Given the description of an element on the screen output the (x, y) to click on. 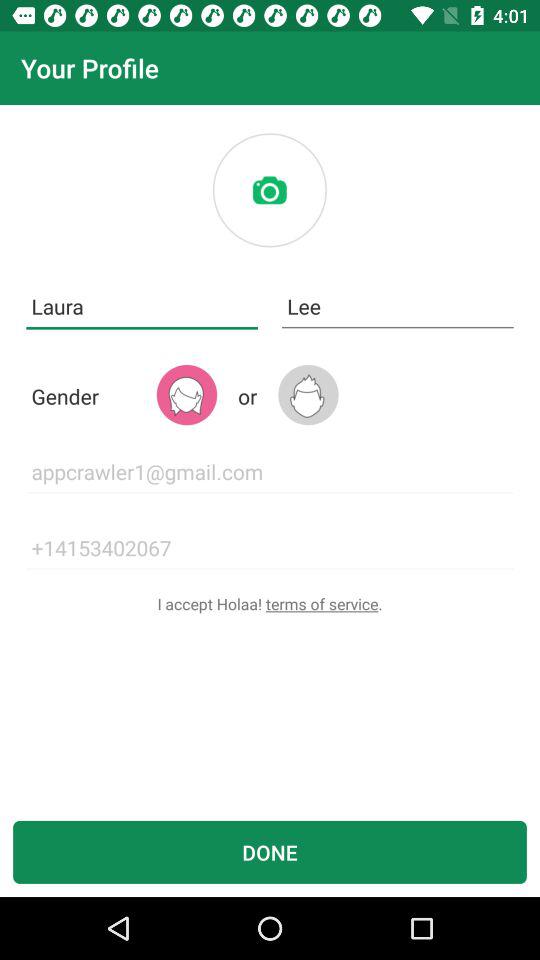
select male as gender (308, 394)
